Given the description of an element on the screen output the (x, y) to click on. 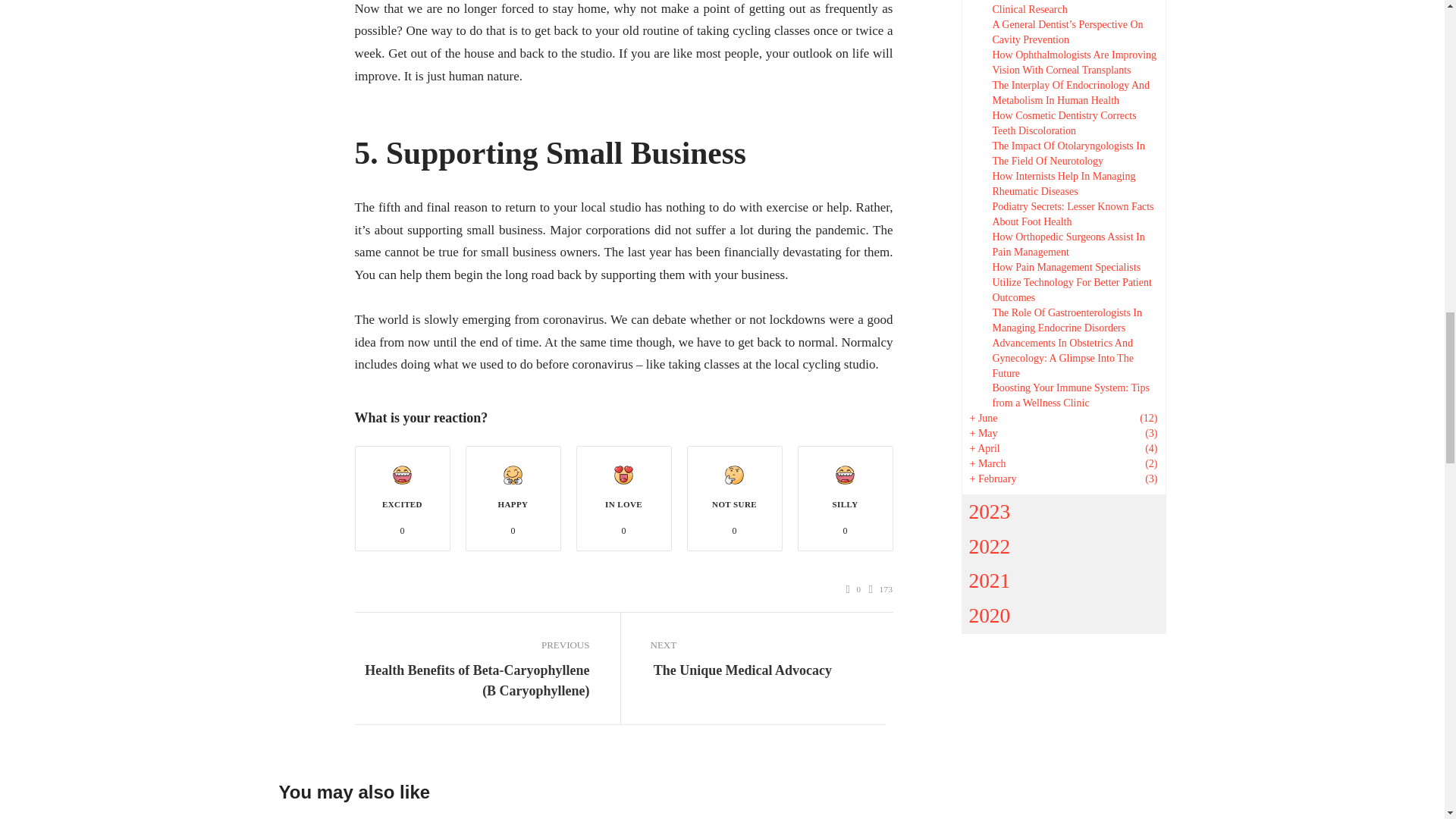
PREVIOUS (472, 645)
 The Unique Medical Advocacy (740, 670)
173 (881, 589)
0 (853, 589)
NEXT (767, 645)
